Given the description of an element on the screen output the (x, y) to click on. 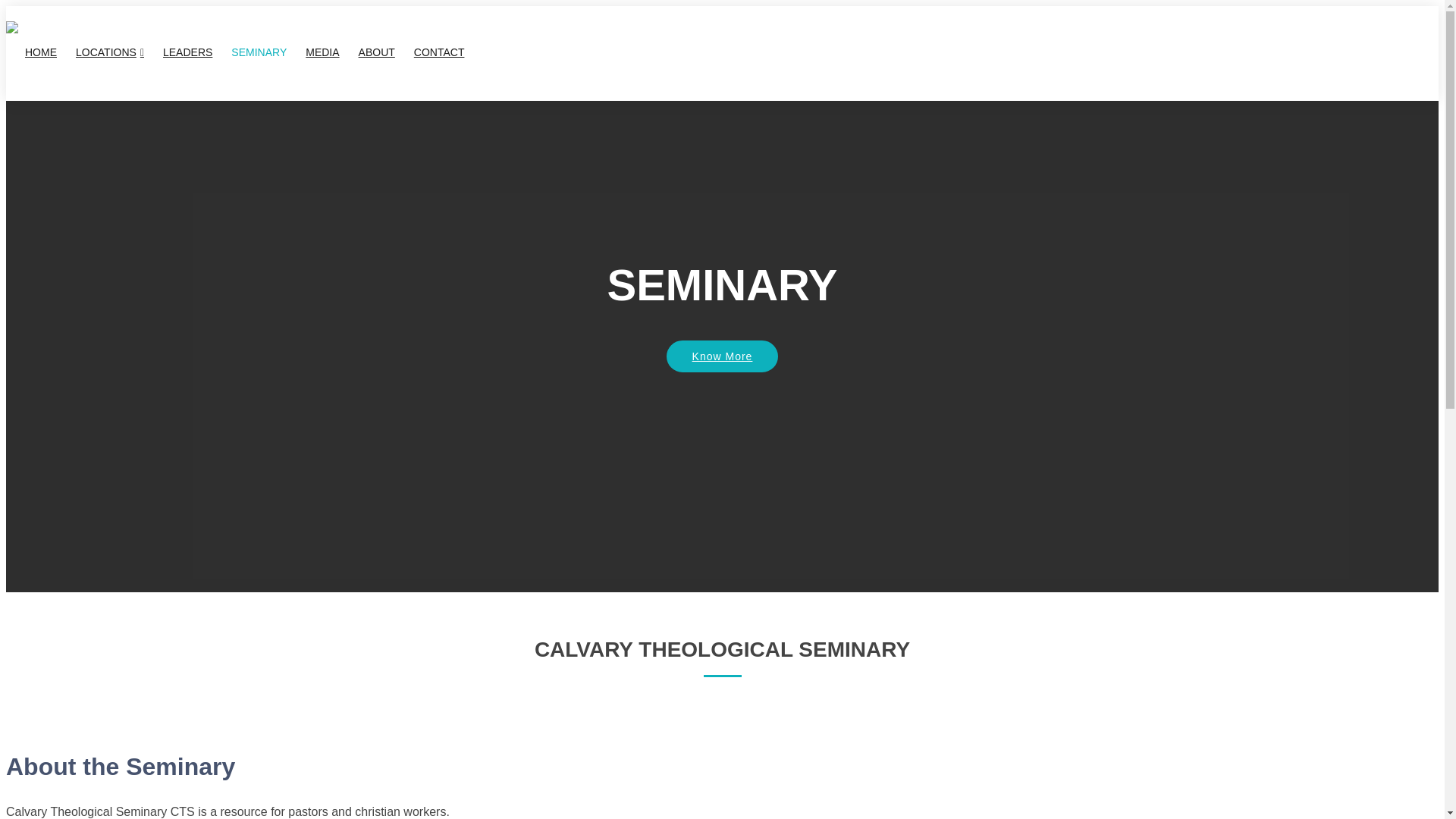
MEDIA (312, 52)
SEMINARY (249, 52)
HOME (30, 52)
LOCATIONS (100, 53)
LEADERS (178, 52)
Know More (722, 379)
CONTACT (429, 52)
ABOUT (366, 52)
